Given the description of an element on the screen output the (x, y) to click on. 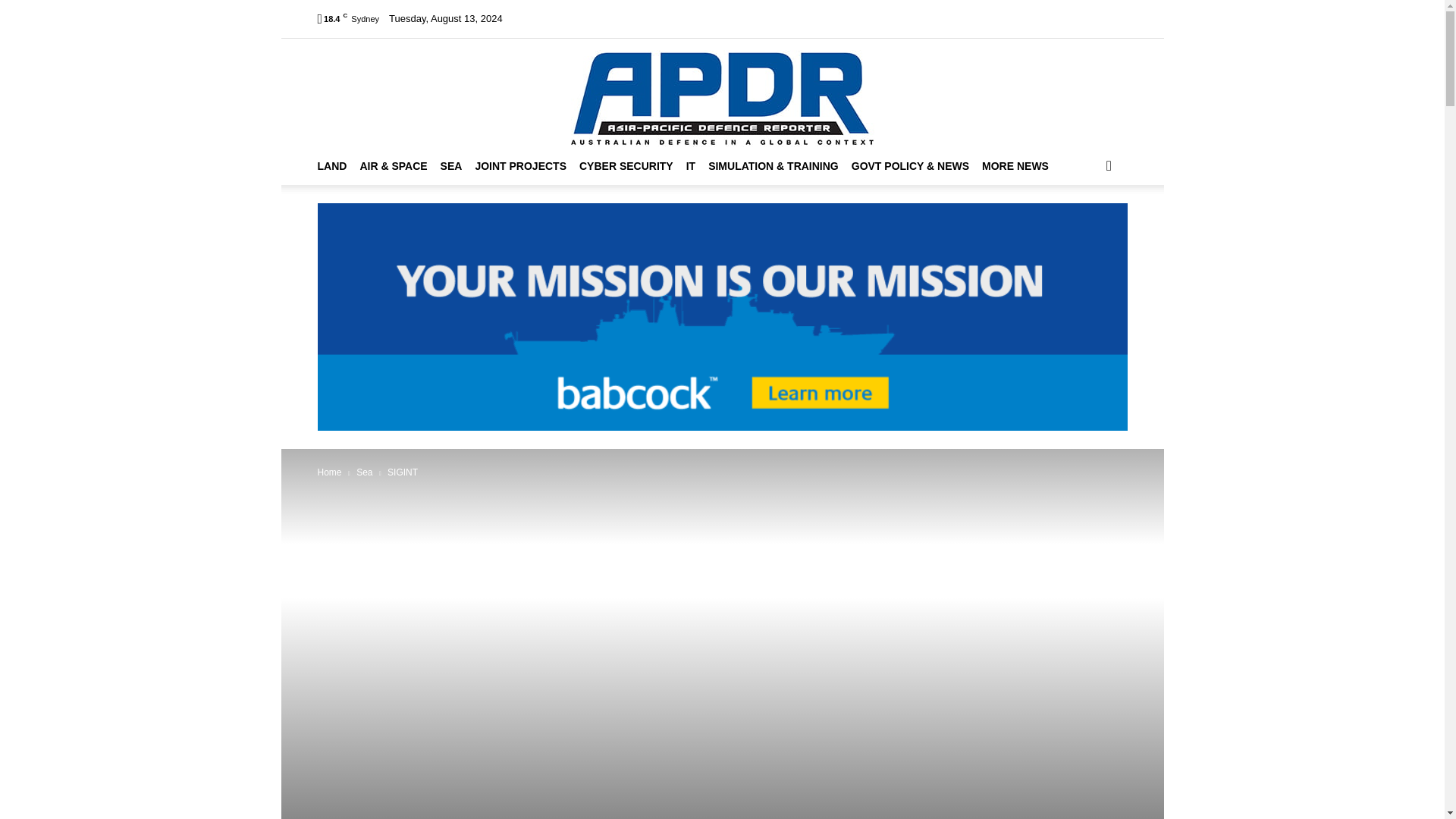
Advertising (875, 18)
About (577, 18)
Events Calendar (638, 18)
SEA (458, 166)
Back Issues (756, 18)
Videos (702, 18)
Subscribe (817, 18)
APDR (721, 92)
Contact (929, 18)
Home (540, 18)
